Given the description of an element on the screen output the (x, y) to click on. 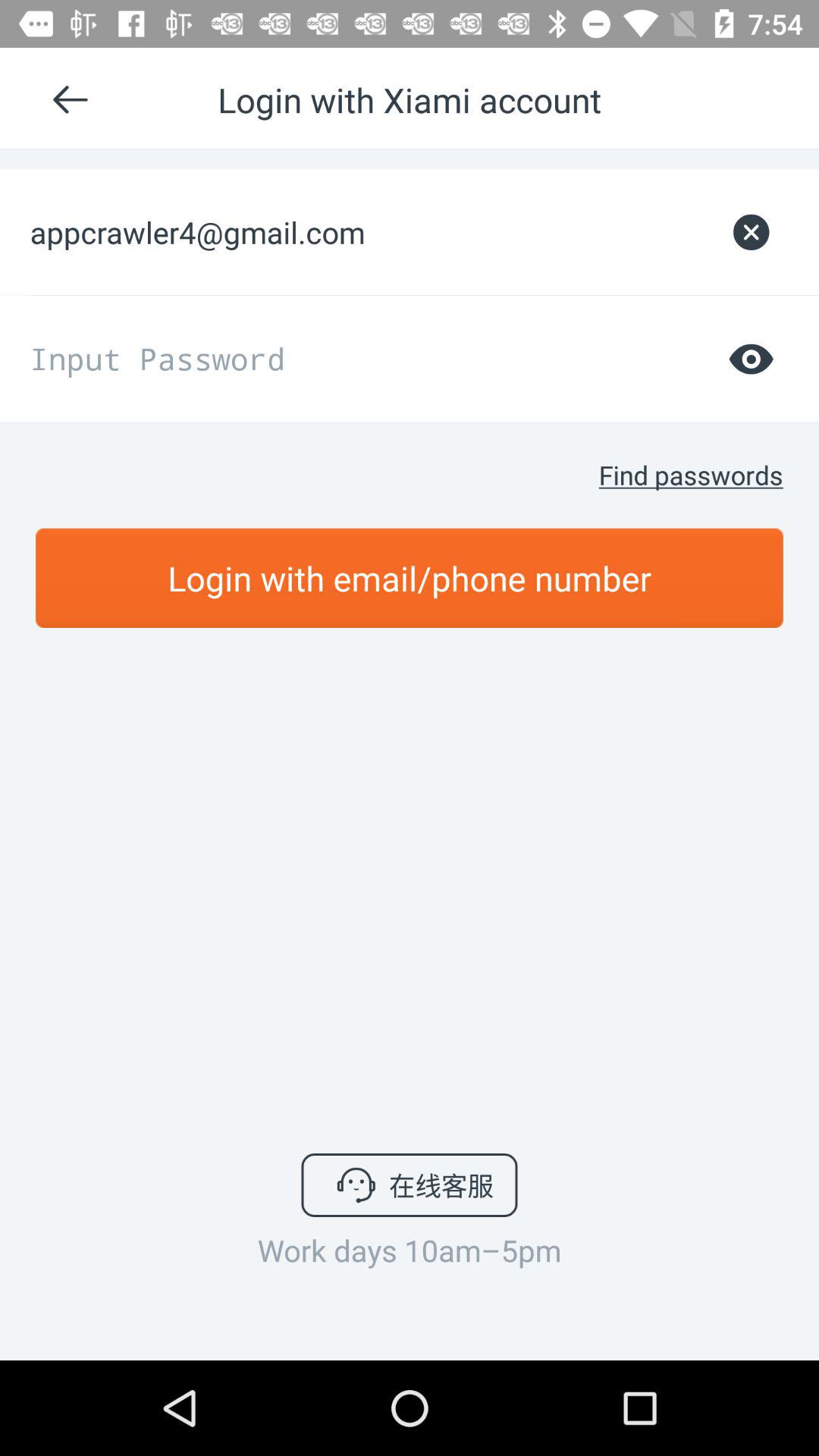
swipe until the find passwords icon (690, 474)
